Given the description of an element on the screen output the (x, y) to click on. 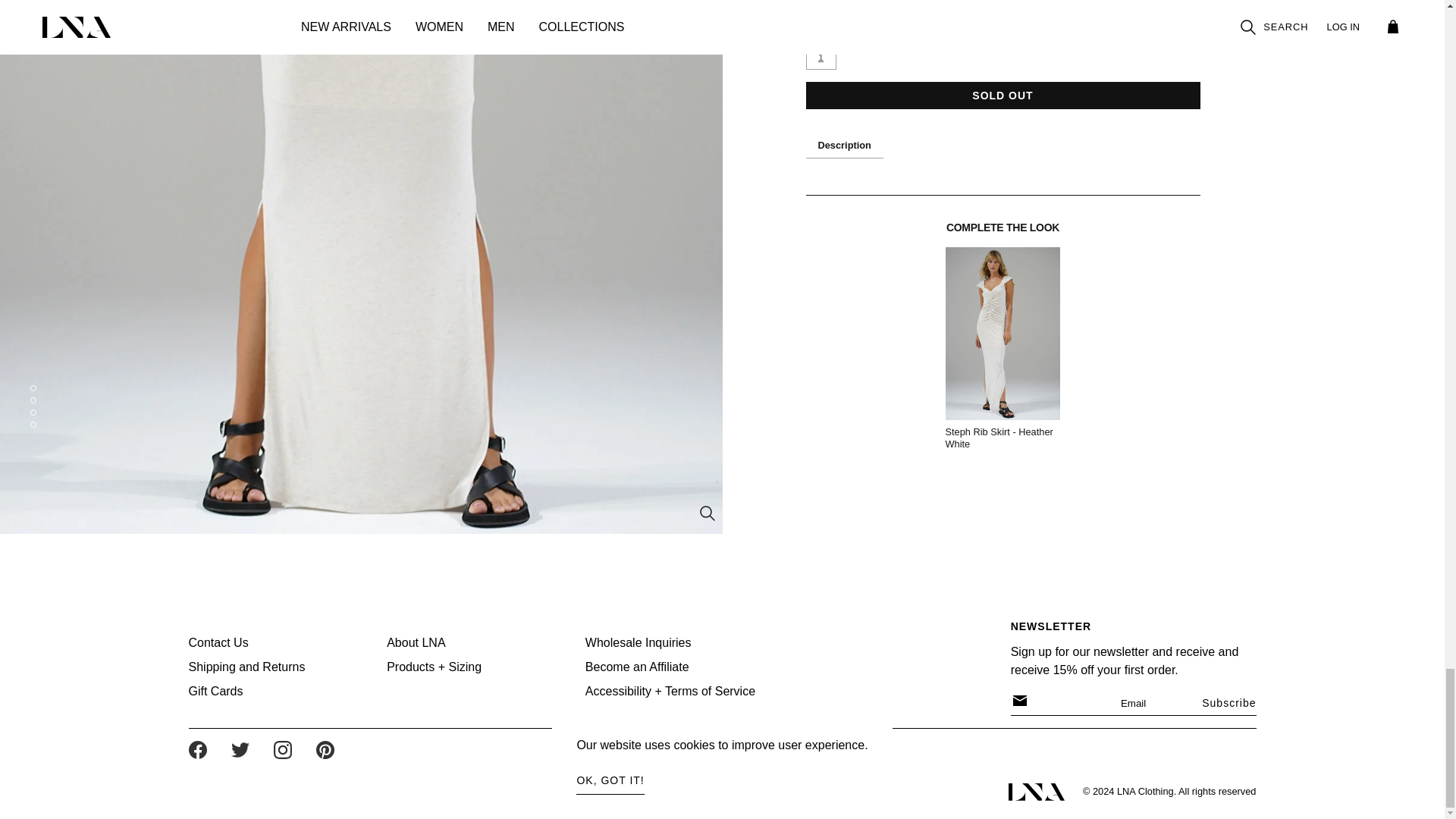
Facebook (196, 750)
Instagram (282, 750)
Twitter (239, 750)
Pinterest (324, 750)
